Given the description of an element on the screen output the (x, y) to click on. 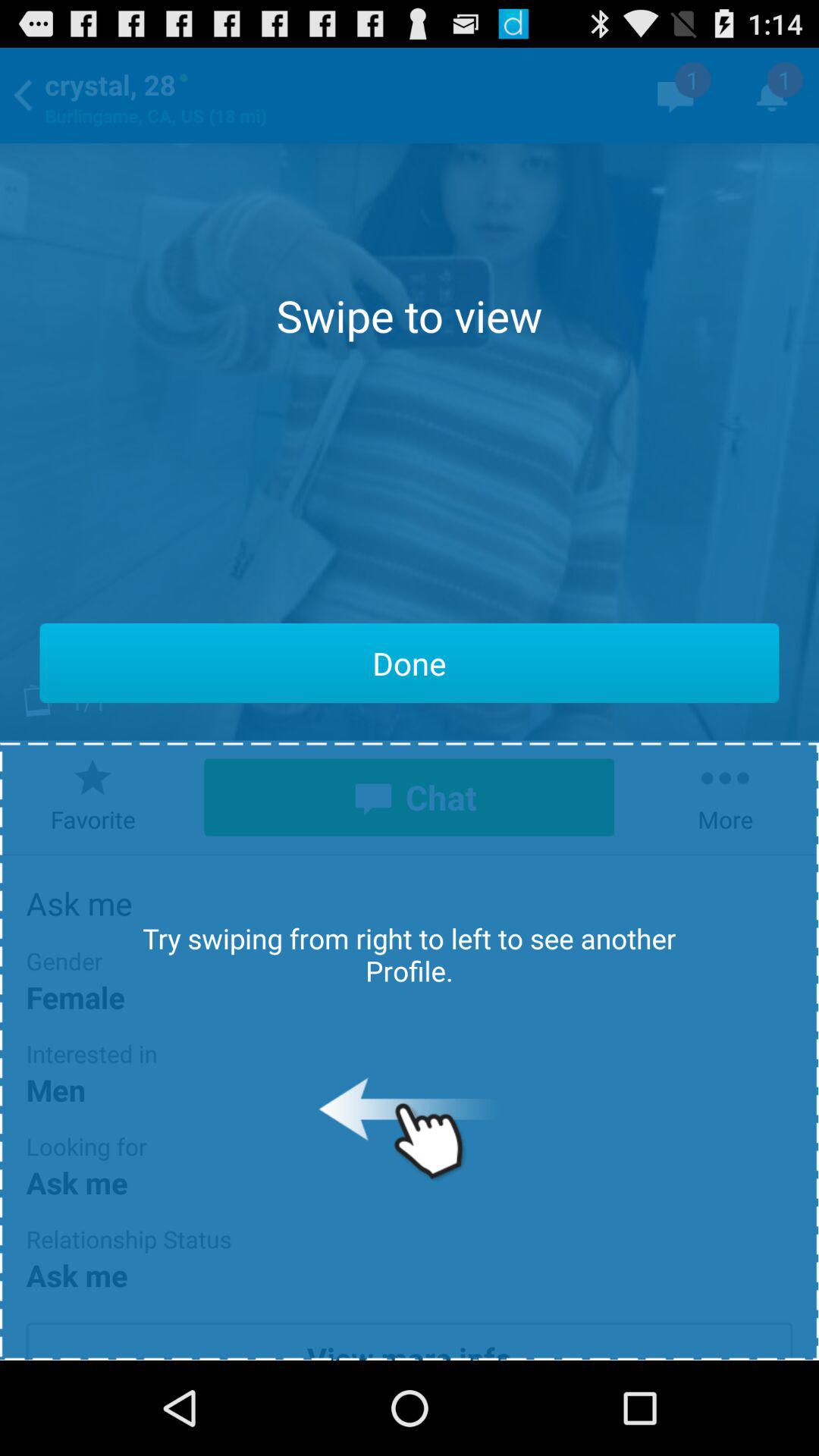
choose done (409, 662)
